Given the description of an element on the screen output the (x, y) to click on. 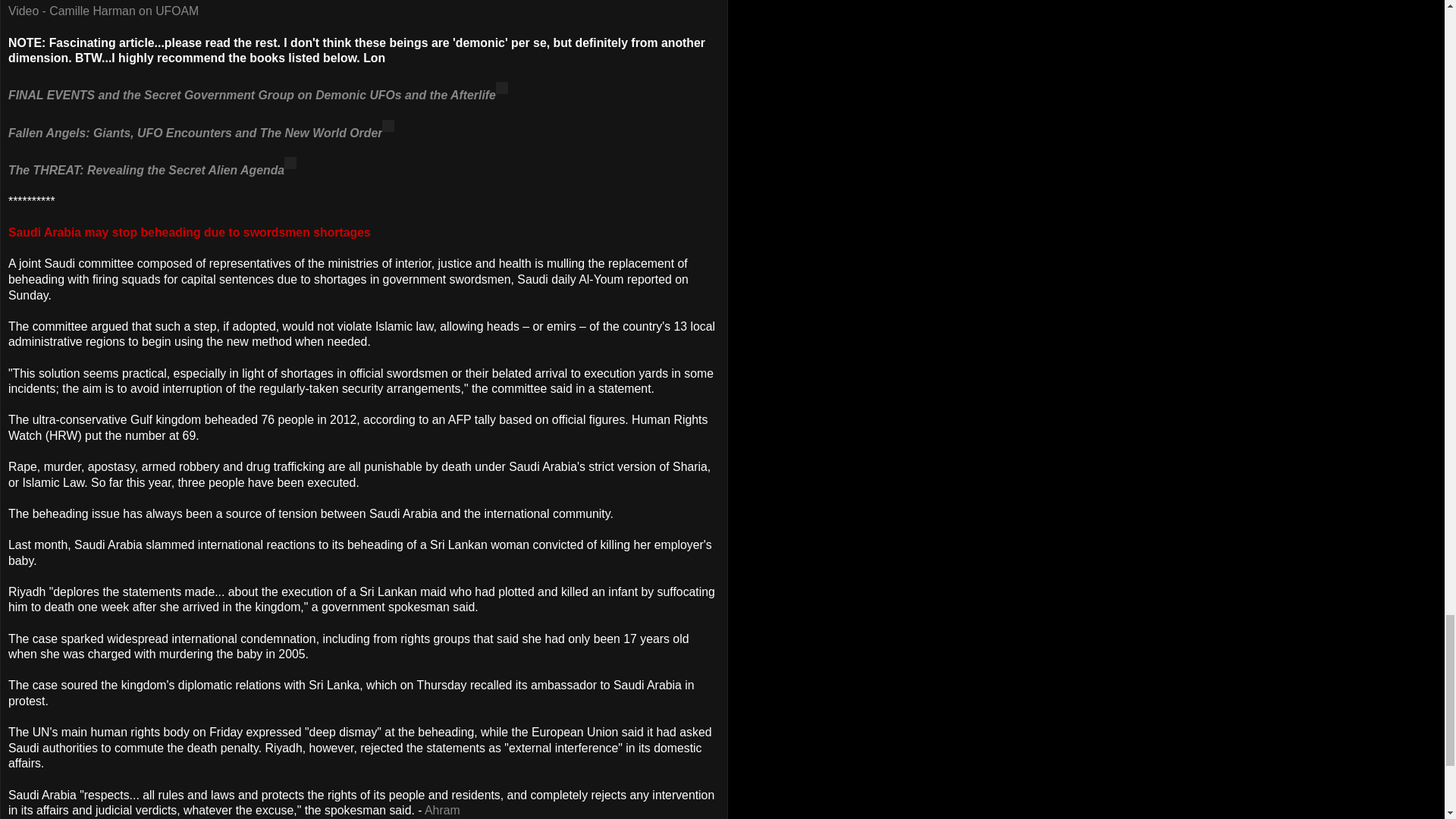
Ahram (442, 809)
The THREAT: Revealing the Secret Alien Agenda (145, 169)
Video - Camille Harman on UFOAM (103, 10)
